Given the description of an element on the screen output the (x, y) to click on. 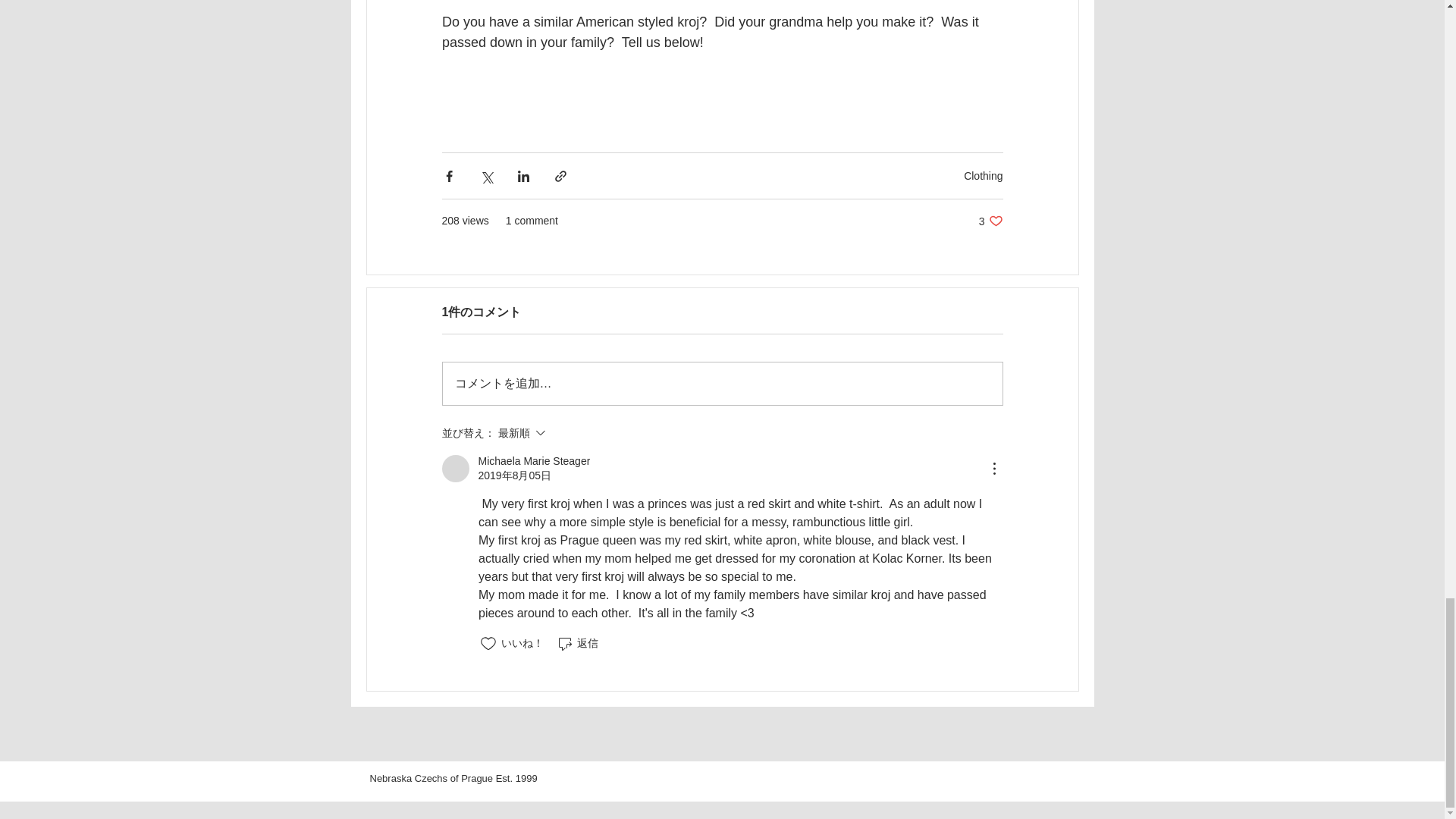
Michaela Marie Steager (454, 468)
Clothing (983, 175)
